Given the description of an element on the screen output the (x, y) to click on. 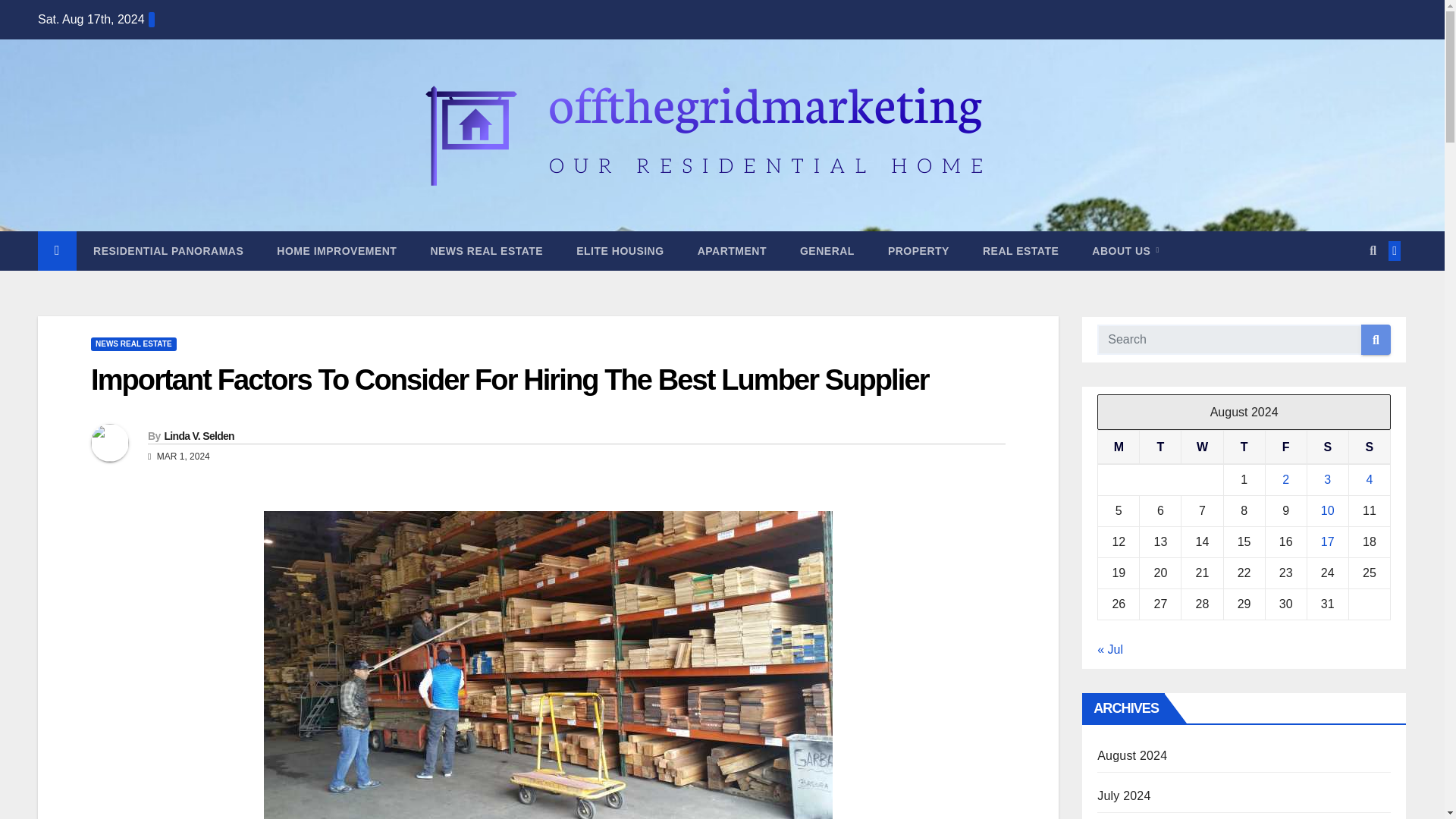
Home Improvement (336, 250)
PROPERTY (918, 250)
REAL ESTATE (1020, 250)
Linda V. Selden (197, 435)
ELITE HOUSING (619, 250)
NEWS REAL ESTATE (133, 344)
Property (918, 250)
Apartment (732, 250)
Residential Panoramas (168, 250)
RESIDENTIAL PANORAMAS (168, 250)
